Given the description of an element on the screen output the (x, y) to click on. 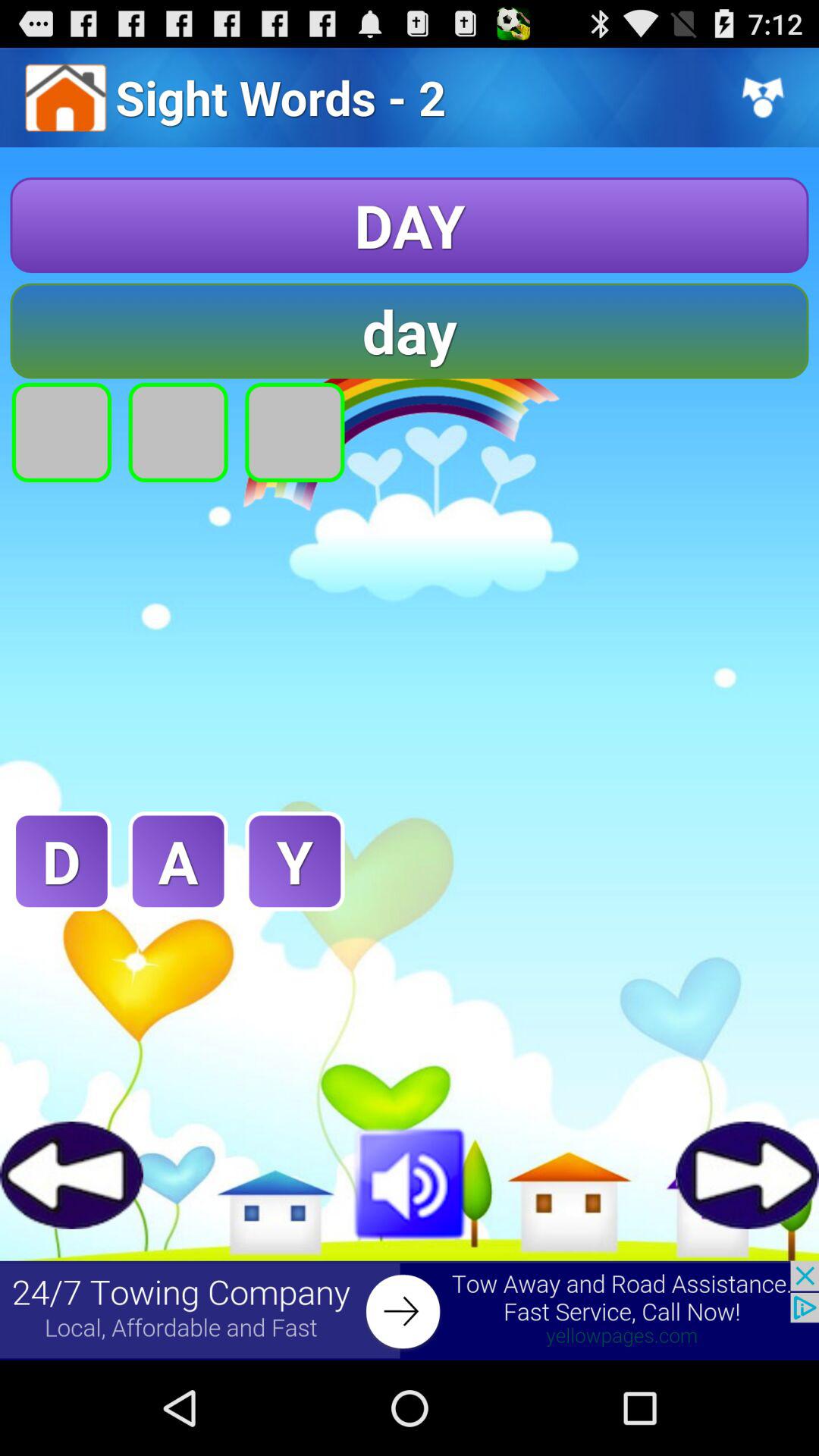
volume control (409, 1181)
